Given the description of an element on the screen output the (x, y) to click on. 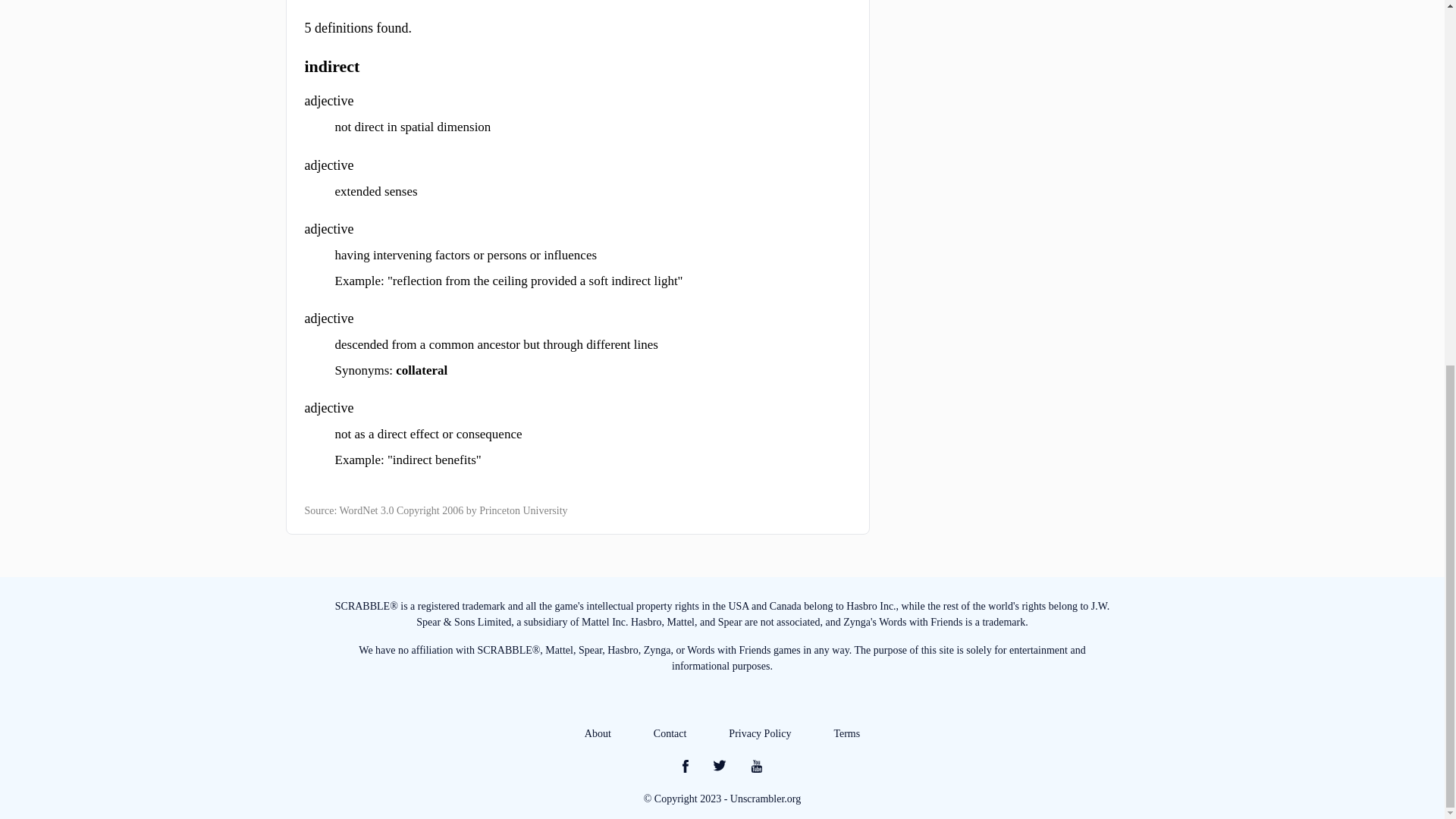
Terms (846, 733)
About (598, 733)
Privacy Policy (759, 733)
Contact (670, 733)
